Given the description of an element on the screen output the (x, y) to click on. 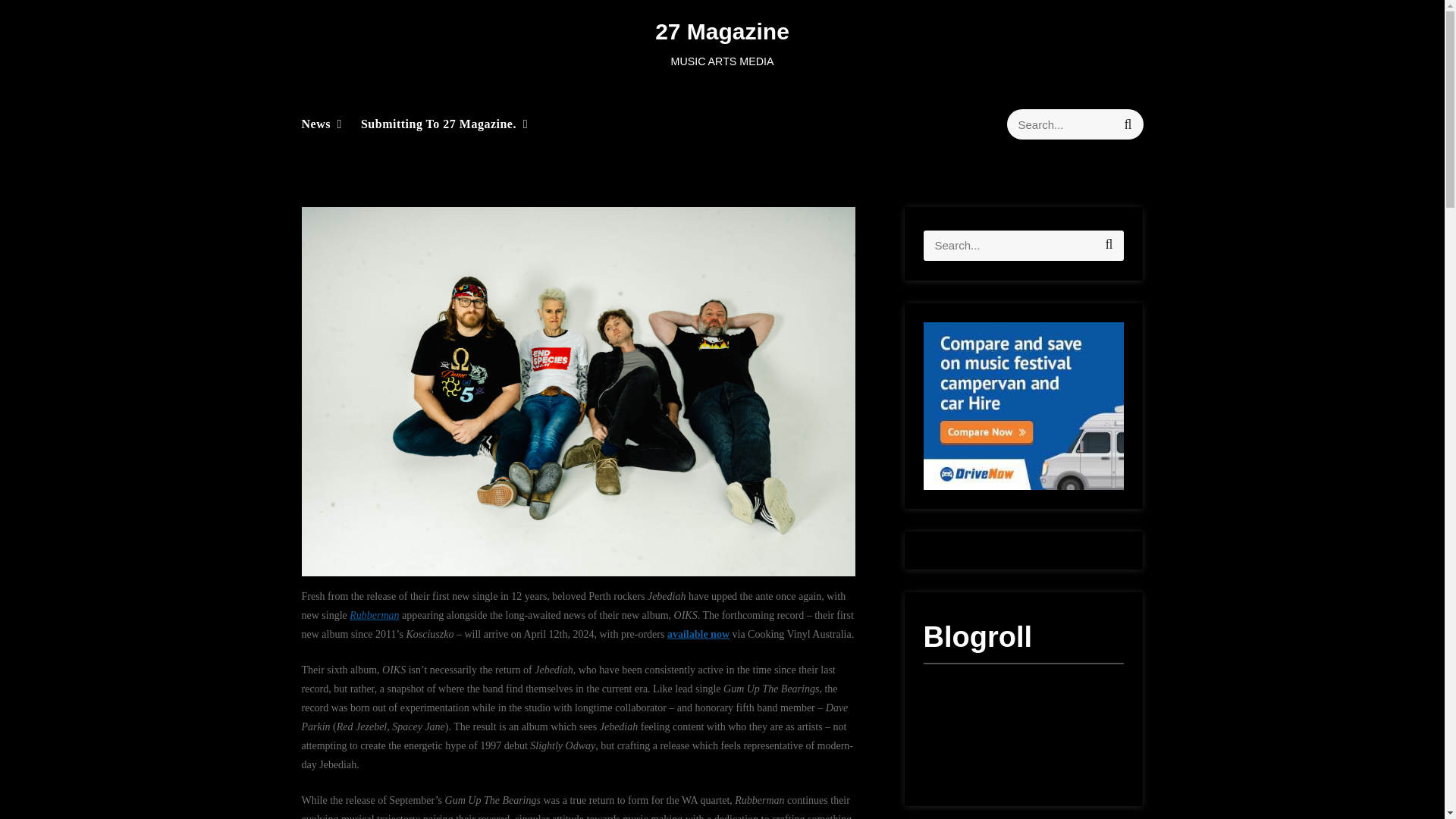
Rubberman (373, 614)
Search (1127, 123)
27 Magazine (722, 31)
Submitting To 27 Magazine. (438, 123)
available now (697, 633)
News (315, 123)
